Given the description of an element on the screen output the (x, y) to click on. 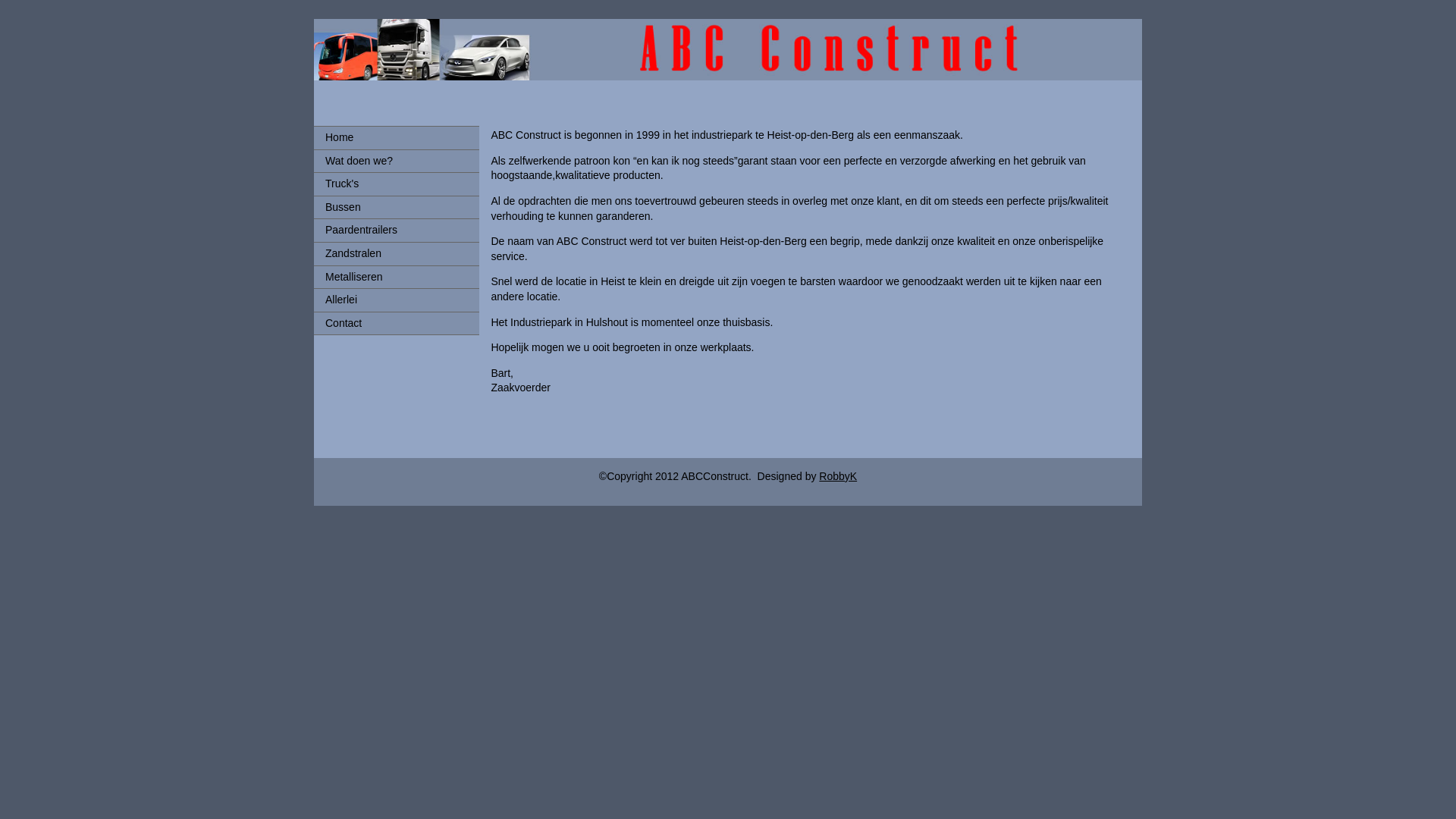
Zandstralen Element type: text (396, 253)
Metalliseren Element type: text (396, 277)
Truck's Element type: text (396, 183)
Contact Element type: text (396, 323)
Bussen Element type: text (396, 207)
Paardentrailers Element type: text (396, 230)
RobbyK Element type: text (837, 476)
Wat doen we? Element type: text (396, 161)
Home Element type: text (396, 137)
Allerlei Element type: text (396, 299)
